Given the description of an element on the screen output the (x, y) to click on. 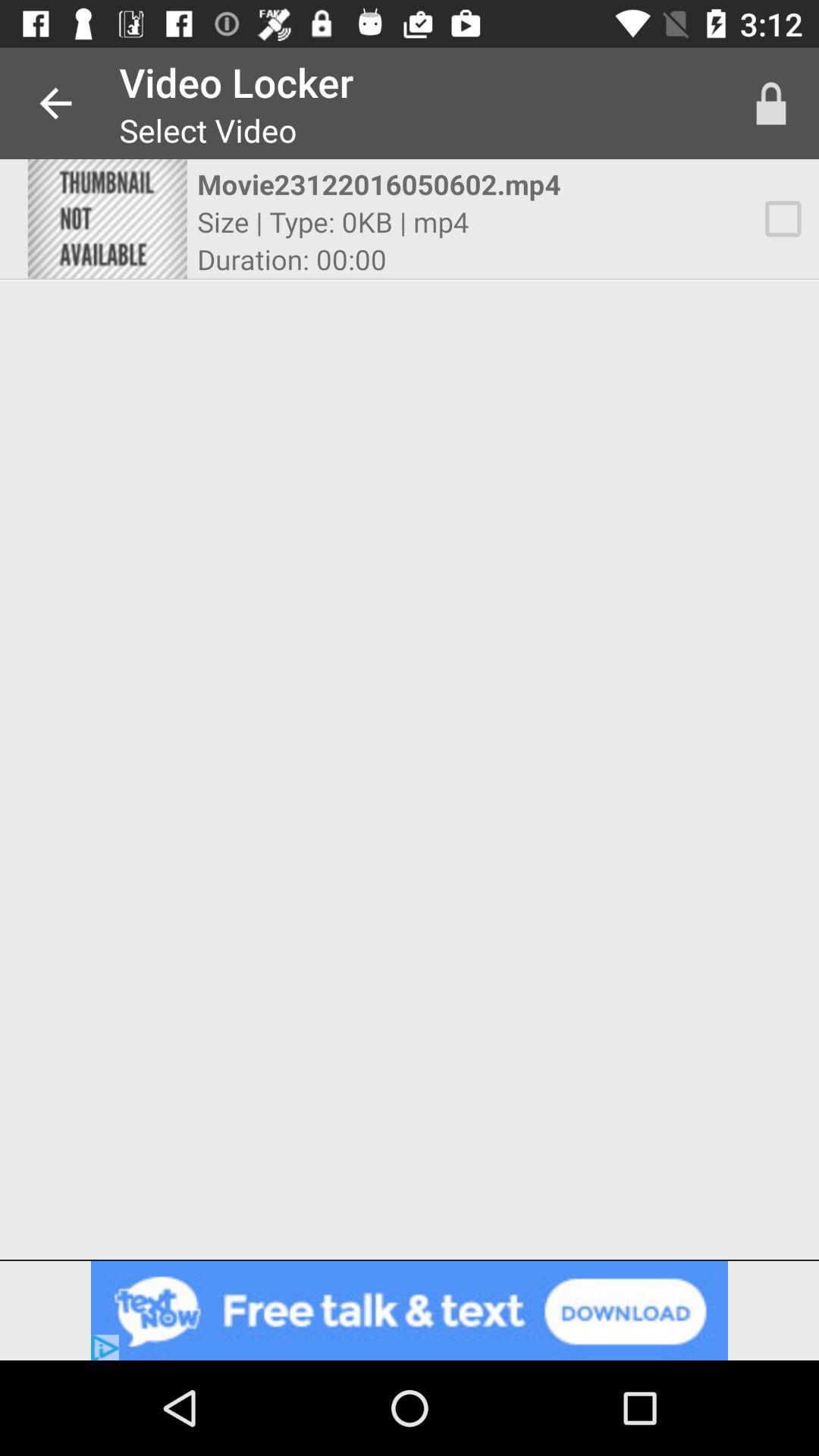
turn off icon to the right of movie23122016050602.mp4 item (783, 218)
